Given the description of an element on the screen output the (x, y) to click on. 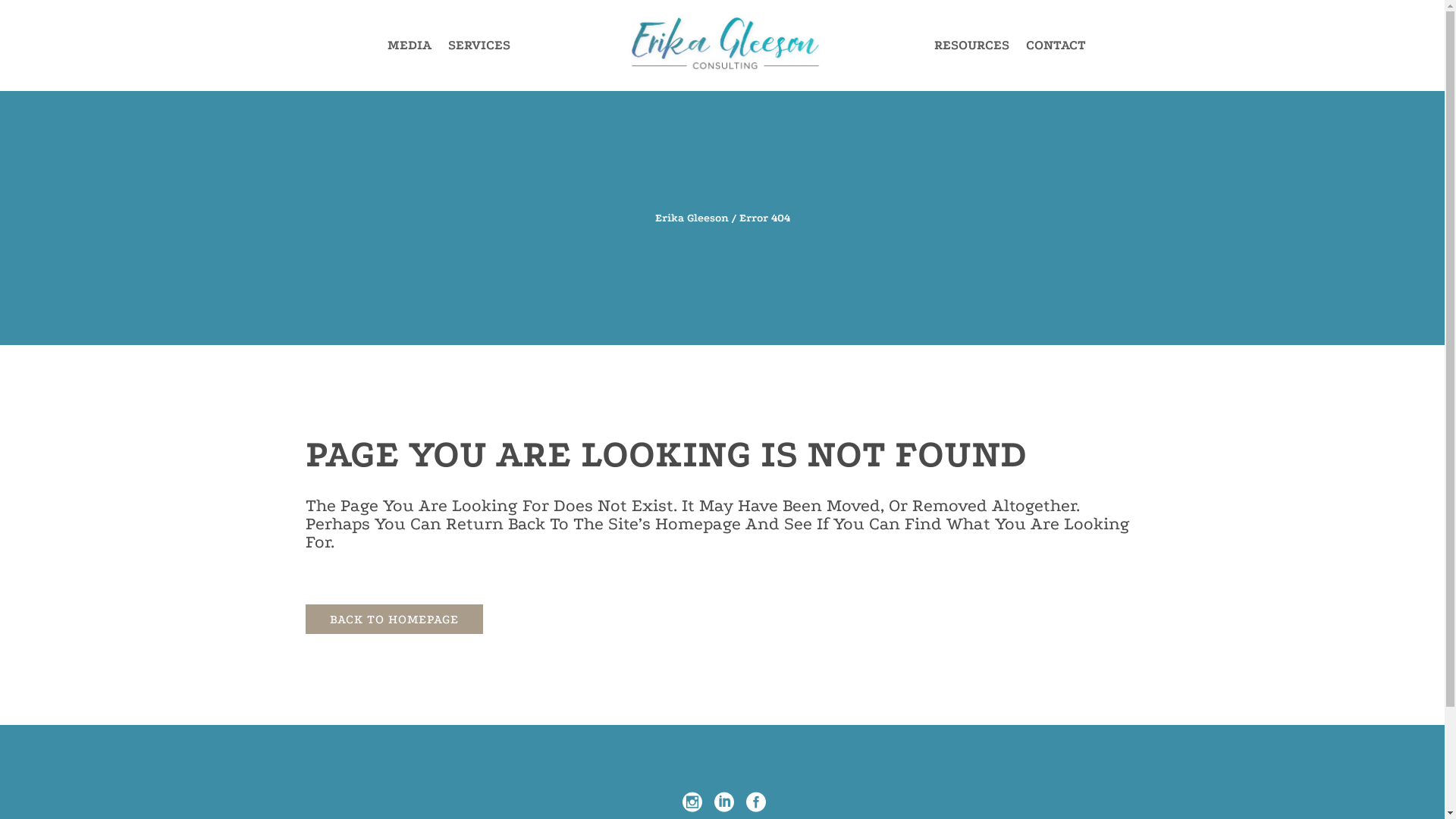
Erika Gleeson Element type: text (691, 217)
CONTACT Element type: text (1055, 45)
MEDIA Element type: text (409, 45)
SERVICES Element type: text (478, 45)
RESOURCES Element type: text (971, 45)
BACK TO HOMEPAGE Element type: text (393, 618)
